Given the description of an element on the screen output the (x, y) to click on. 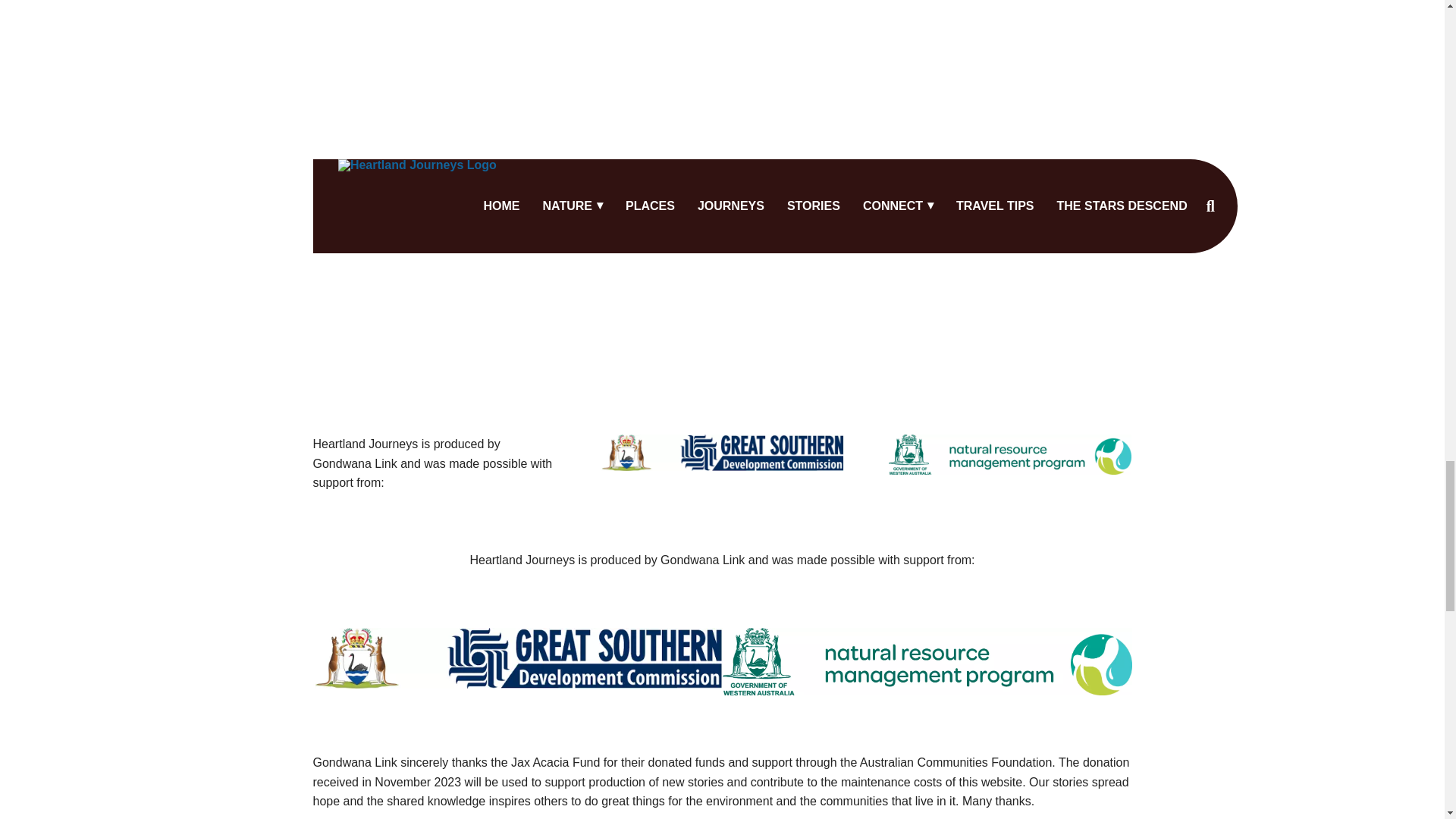
GSDC full copy (721, 452)
State-NRM-High-Quality-Logo (926, 661)
GSDC full copy (517, 658)
State-NRM-High-Quality-Logo (1009, 454)
